Given the description of an element on the screen output the (x, y) to click on. 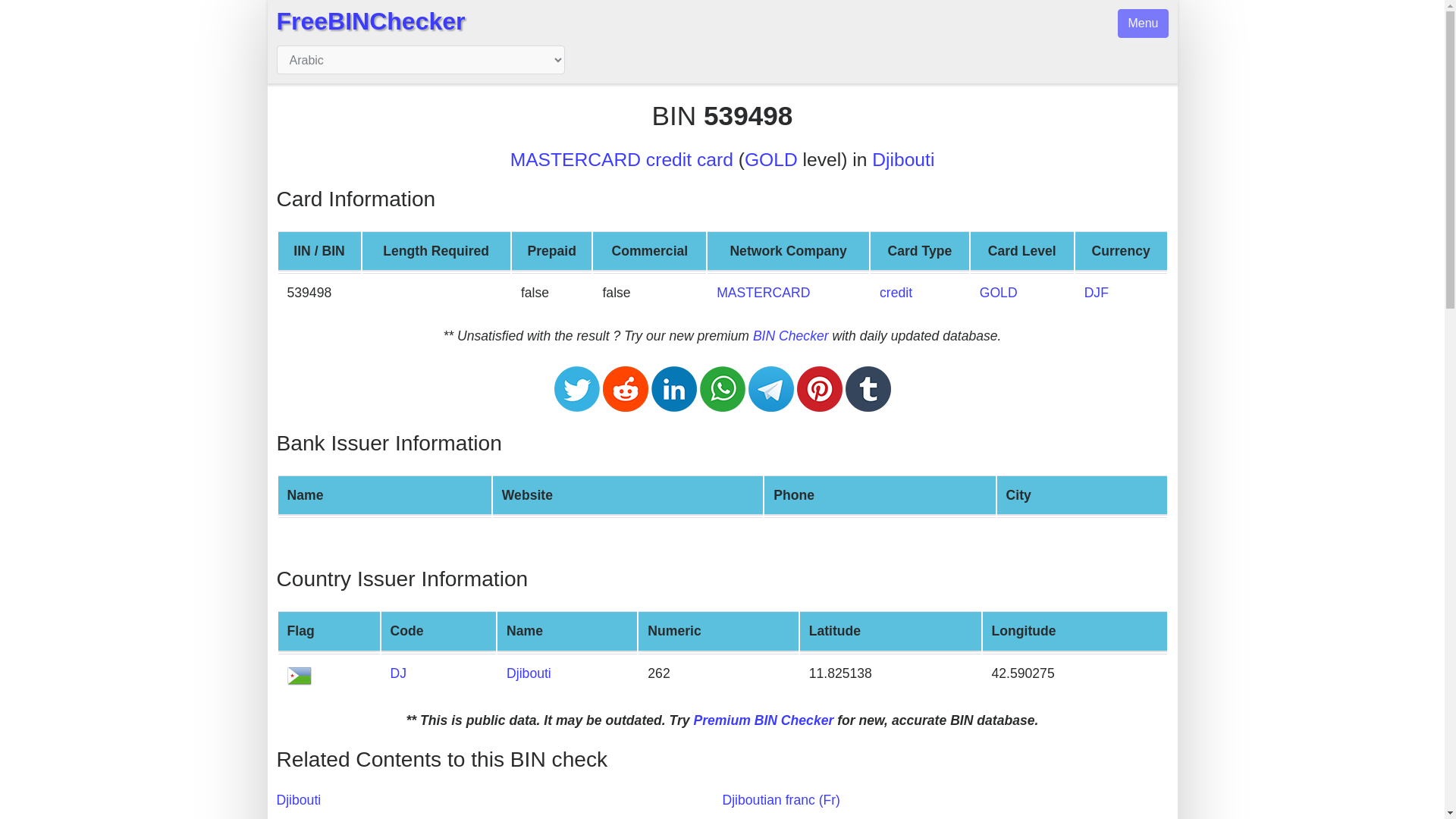
GOLD (770, 159)
Menu (1142, 23)
DJ (398, 672)
Premium BIN Checker (762, 720)
Djiboutian franc (1096, 292)
Djiboutian franc (781, 799)
Djibouti (528, 672)
GOLD (998, 292)
MASTERCARD (762, 292)
MASTERCARD credit card (622, 159)
credit (895, 292)
BIN Checker (790, 335)
FreeBINChecker (370, 21)
Djibouti (903, 159)
DJF (1096, 292)
